Given the description of an element on the screen output the (x, y) to click on. 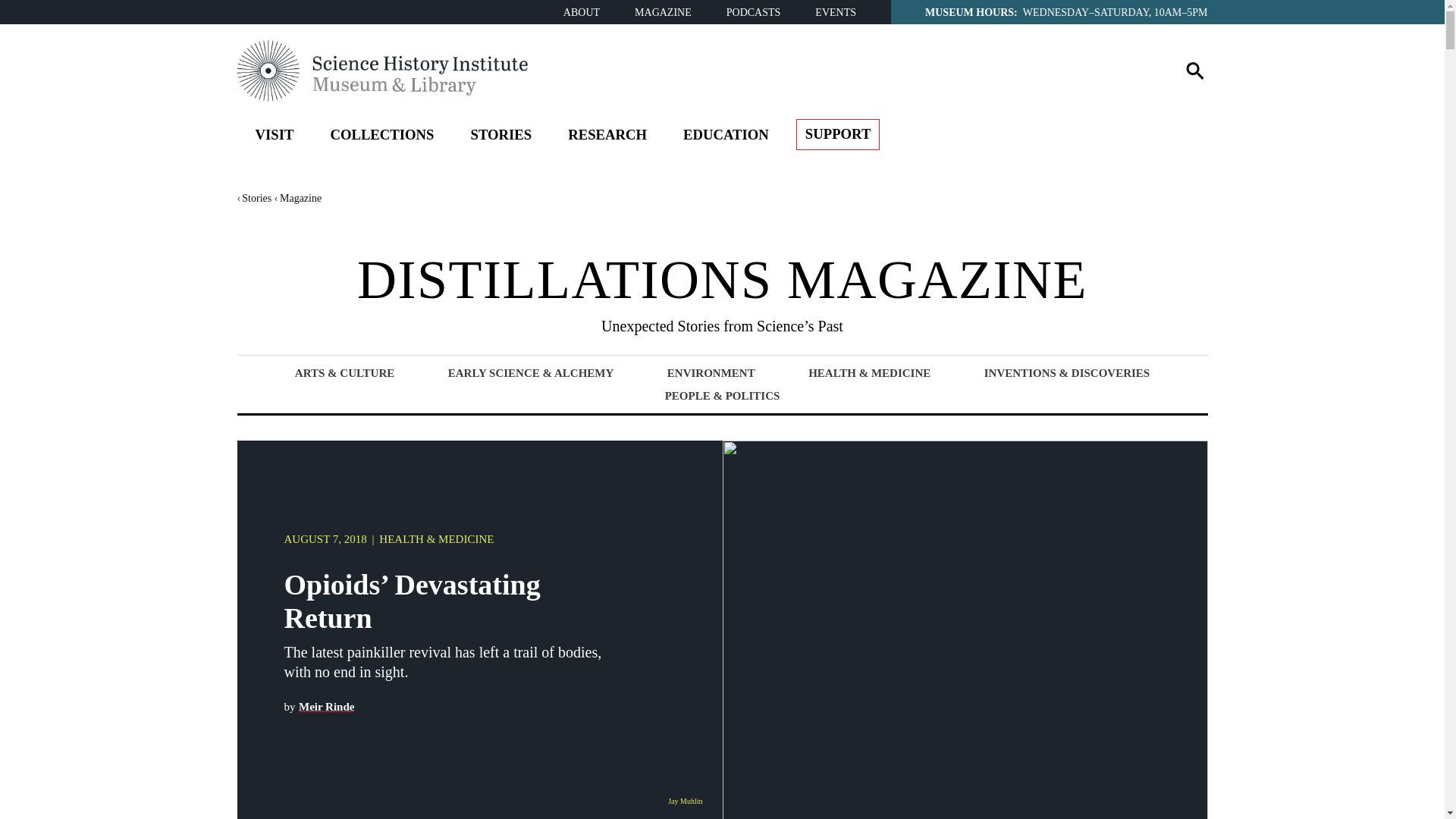
MAGAZINE (663, 12)
VISIT (274, 137)
STORIES (500, 137)
RESEARCH (607, 137)
COLLECTIONS (381, 137)
EVENTS (835, 12)
ABOUT (581, 12)
MUSEUM HOURS (968, 11)
PODCASTS (753, 12)
EDUCATION (726, 137)
